Given the description of an element on the screen output the (x, y) to click on. 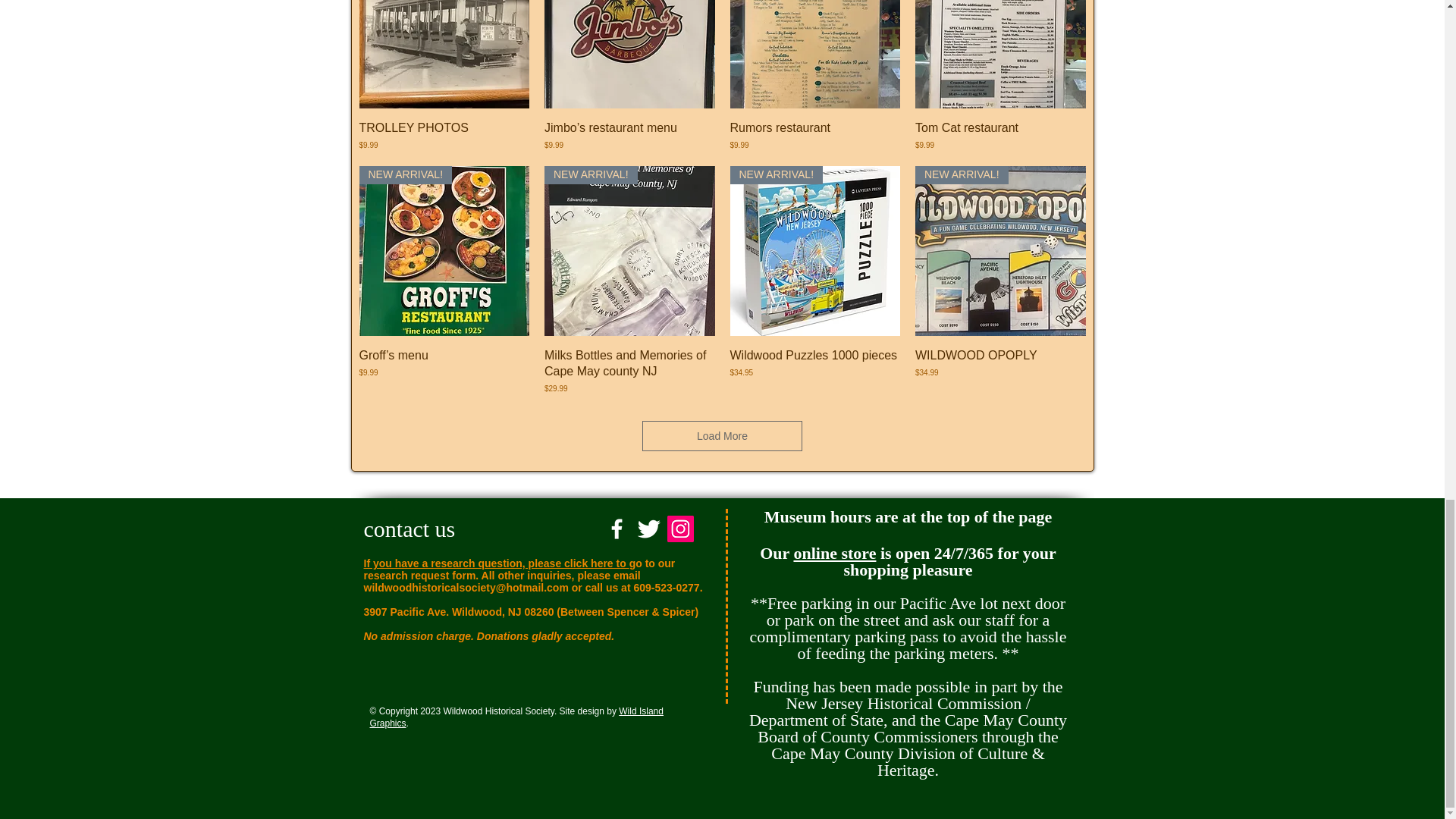
NEW ARRIVAL! (1000, 54)
NEW ARRIVAL! (444, 251)
NEW ARRIVAL! (629, 54)
NEW ARRIVAL! (814, 54)
NEW ARRIVAL! (629, 251)
NEW ARRIVAL! (814, 251)
NEW ARRIVAL! (444, 54)
